Given the description of an element on the screen output the (x, y) to click on. 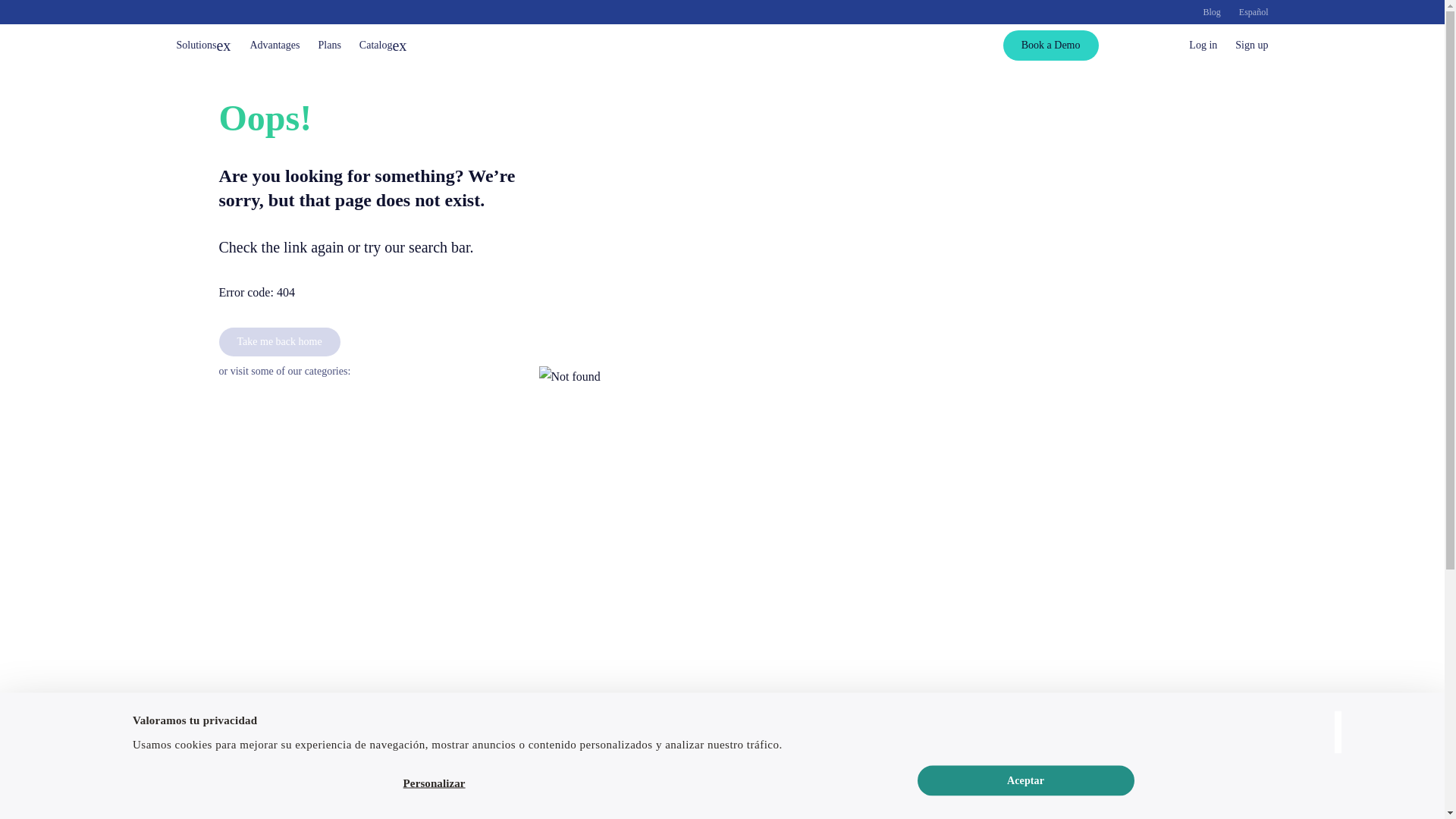
Personalizar (434, 782)
